Given the description of an element on the screen output the (x, y) to click on. 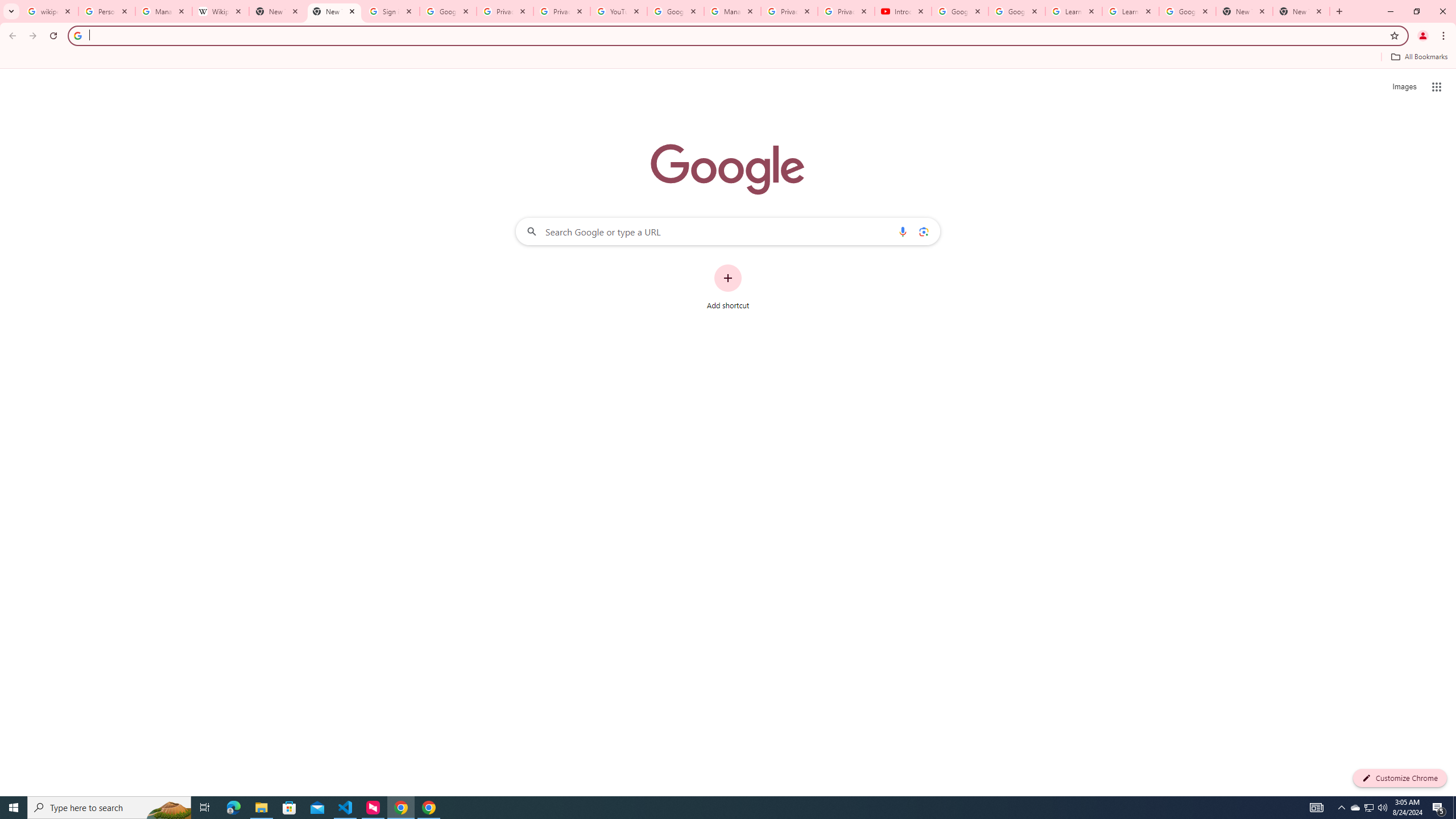
Google Account (1187, 11)
Sign in - Google Accounts (391, 11)
Google Drive: Sign-in (447, 11)
Manage your Location History - Google Search Help (163, 11)
